Given the description of an element on the screen output the (x, y) to click on. 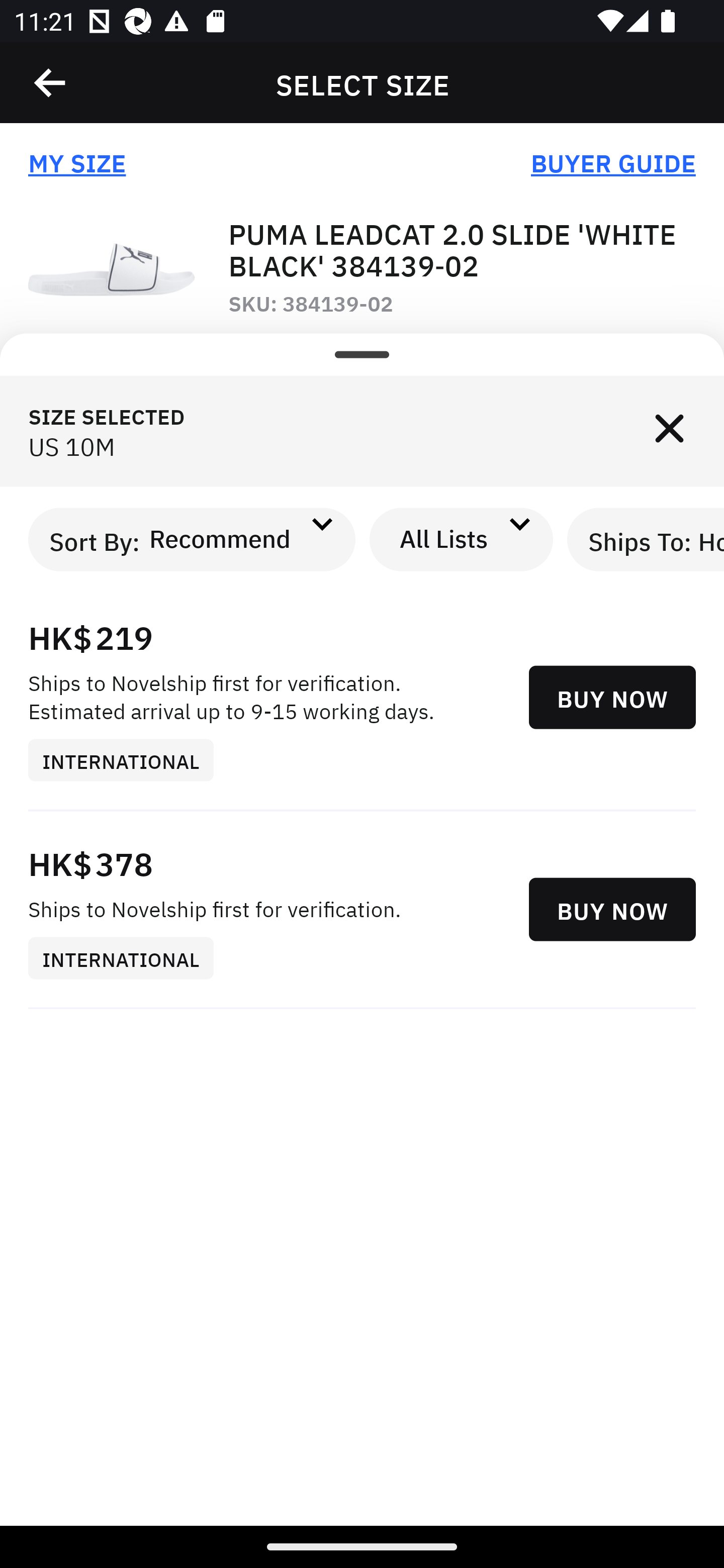
 (50, 83)
 (668, 430)
Recommend  (237, 539)
All Lists  (461, 539)
BUY NOW (612, 697)
INTERNATIONAL (128, 759)
BUY NOW (612, 909)
INTERNATIONAL (128, 958)
